Given the description of an element on the screen output the (x, y) to click on. 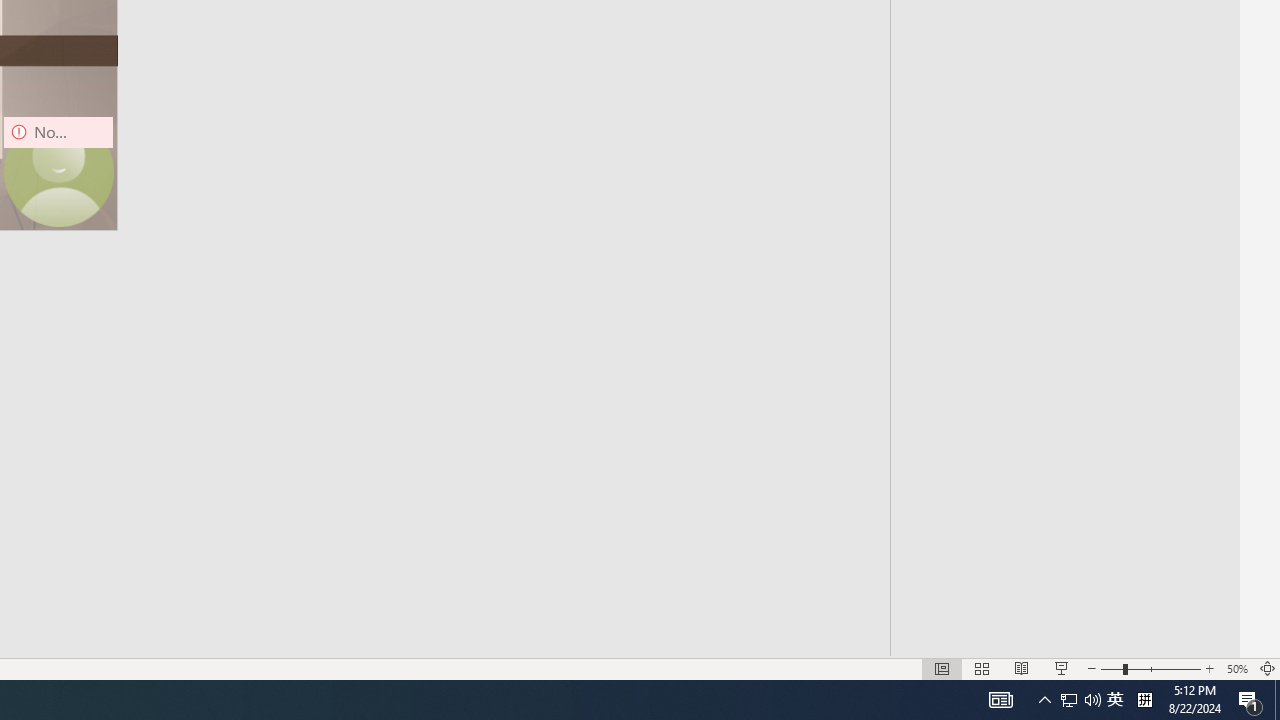
Zoom 50% (1236, 668)
